Given the description of an element on the screen output the (x, y) to click on. 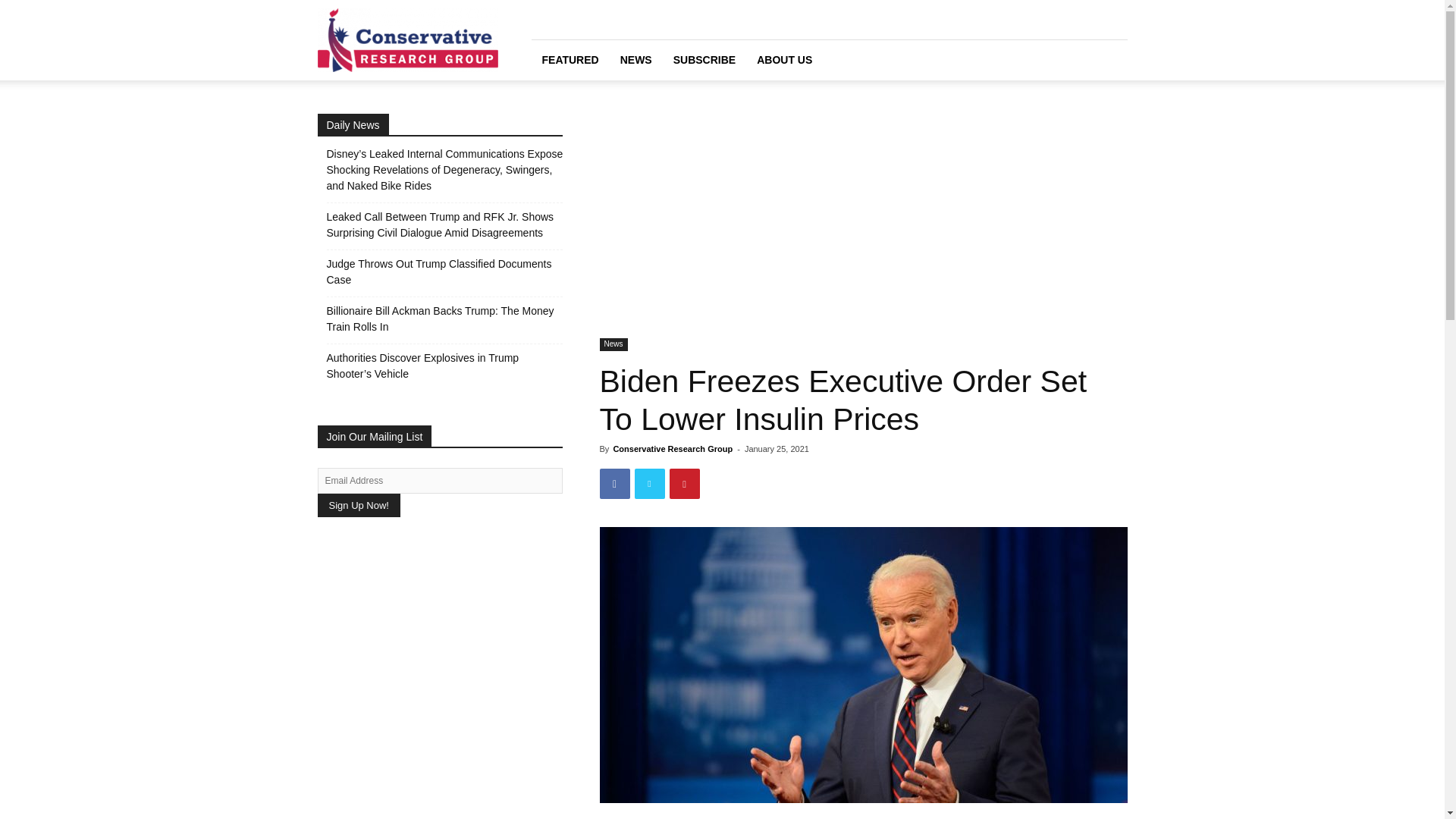
Advertisement (862, 225)
Conservative Research Group (672, 448)
FEATURED (569, 60)
NEWS (636, 60)
News (612, 344)
Judge Throws Out Trump Classified Documents Case (444, 272)
Sign Up Now! (357, 504)
SUBSCRIBE (703, 60)
ABOUT US (783, 60)
